Given the description of an element on the screen output the (x, y) to click on. 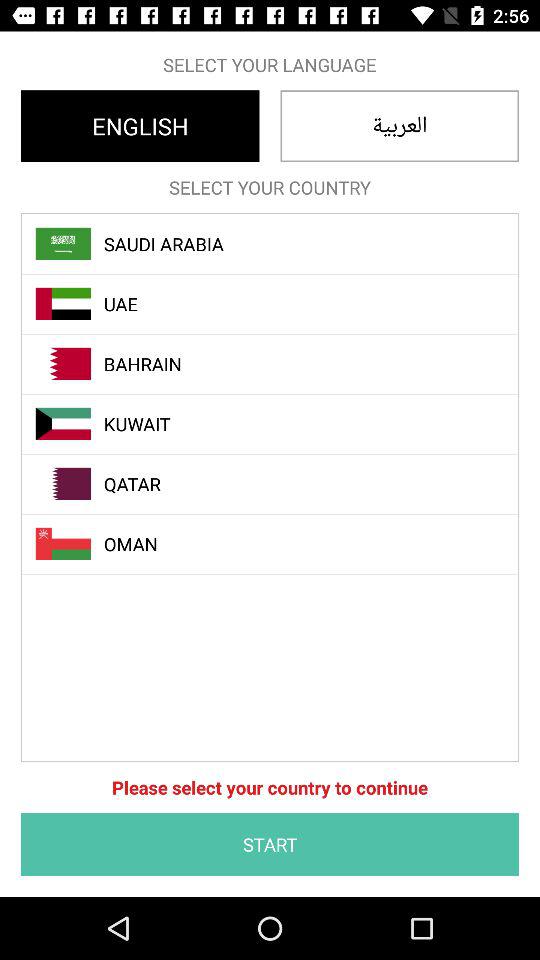
open the item below the select your country icon (281, 243)
